Given the description of an element on the screen output the (x, y) to click on. 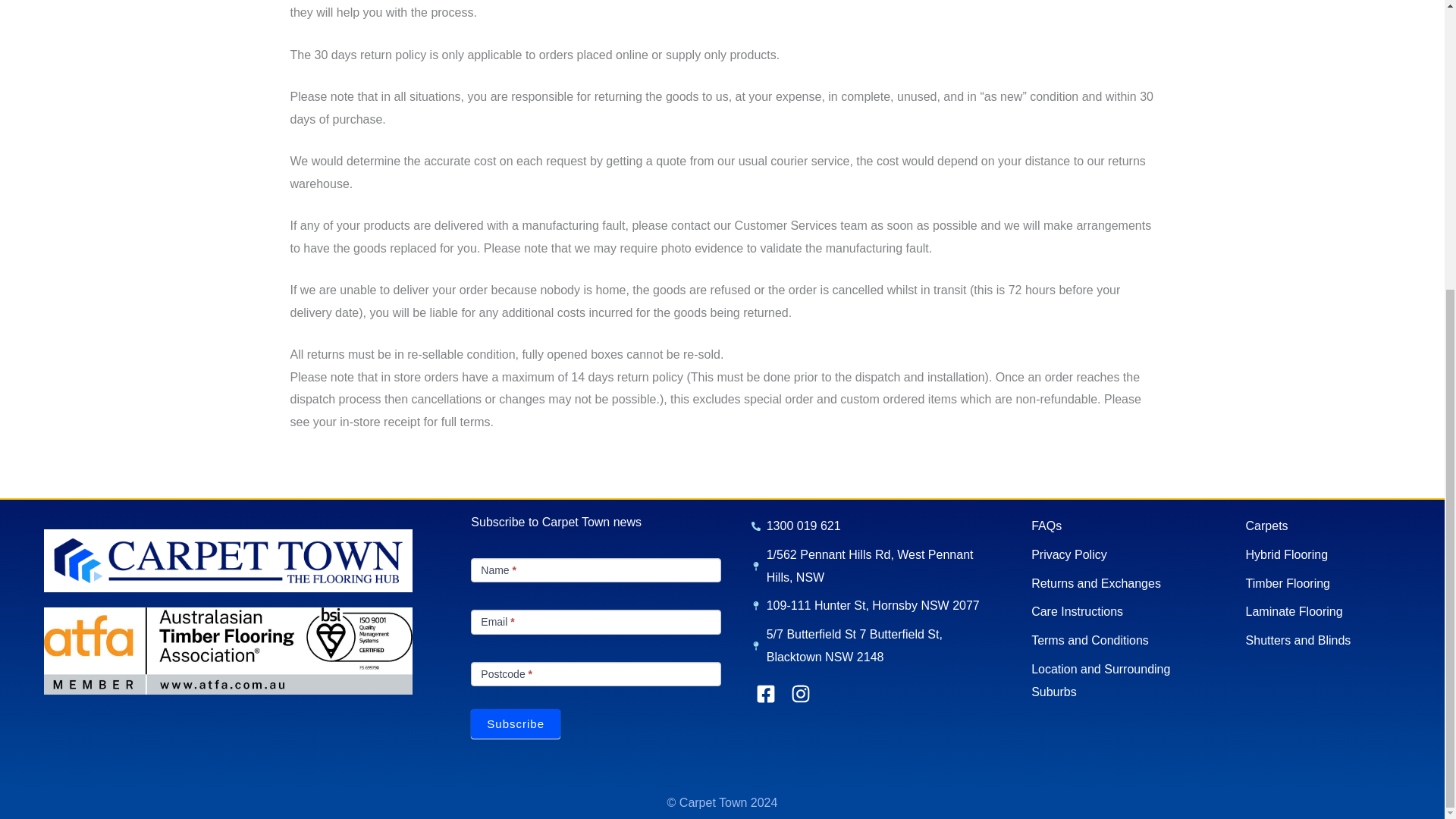
FAQs (1122, 526)
Timber Flooring (1337, 583)
Returns and Exchanges (1122, 583)
Terms and Conditions (1122, 640)
109-111 Hunter St, Hornsby NSW 2077 (876, 605)
Subscribe (515, 723)
Hybrid Flooring (1337, 554)
Carpets (1337, 526)
Shutters and Blinds (1337, 640)
Laminate Flooring (1337, 611)
